Given the description of an element on the screen output the (x, y) to click on. 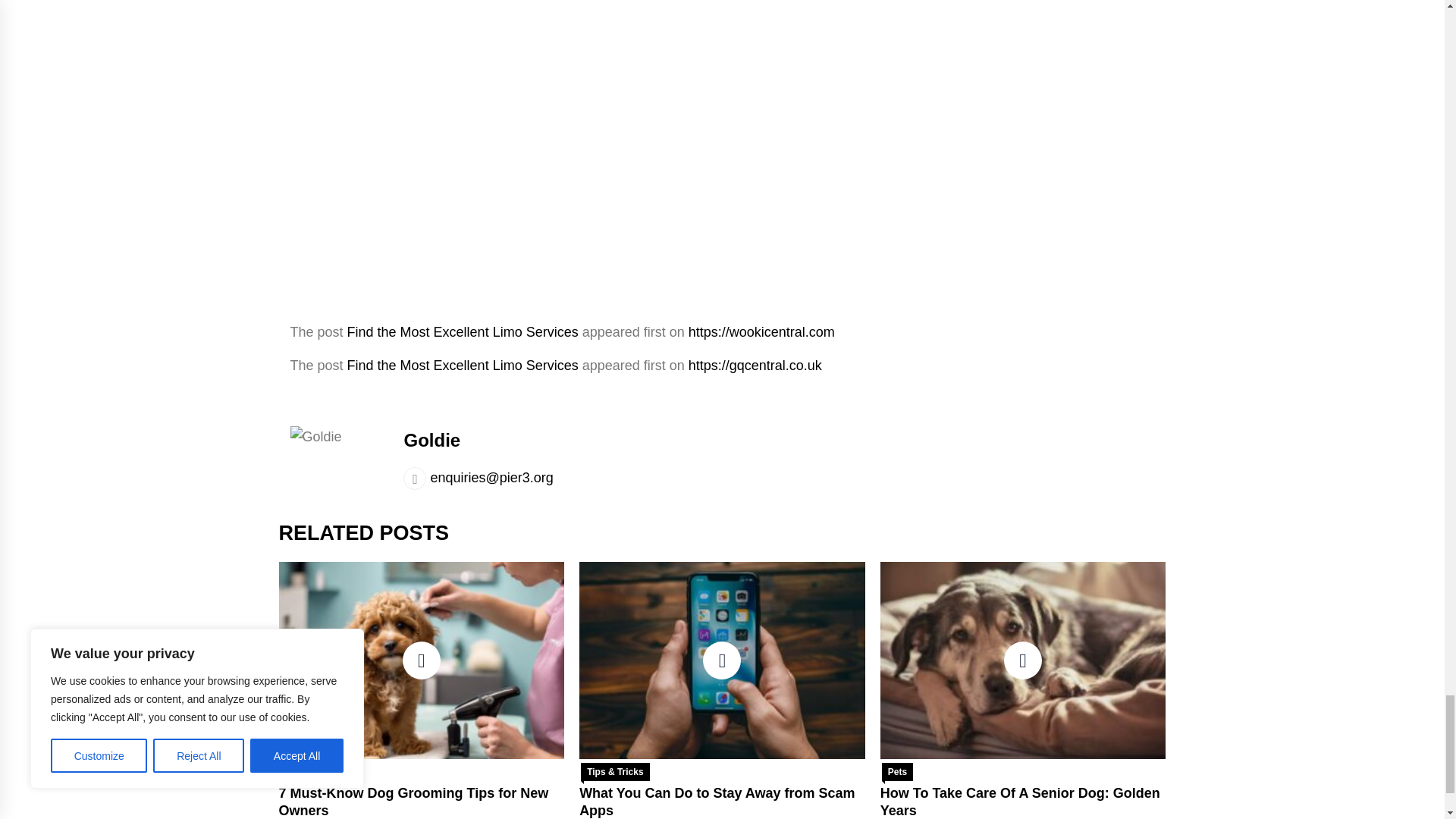
Find the Most Excellent Limo Services (462, 365)
Find the Most Excellent Limo Services (462, 331)
Goldie (431, 439)
